Given the description of an element on the screen output the (x, y) to click on. 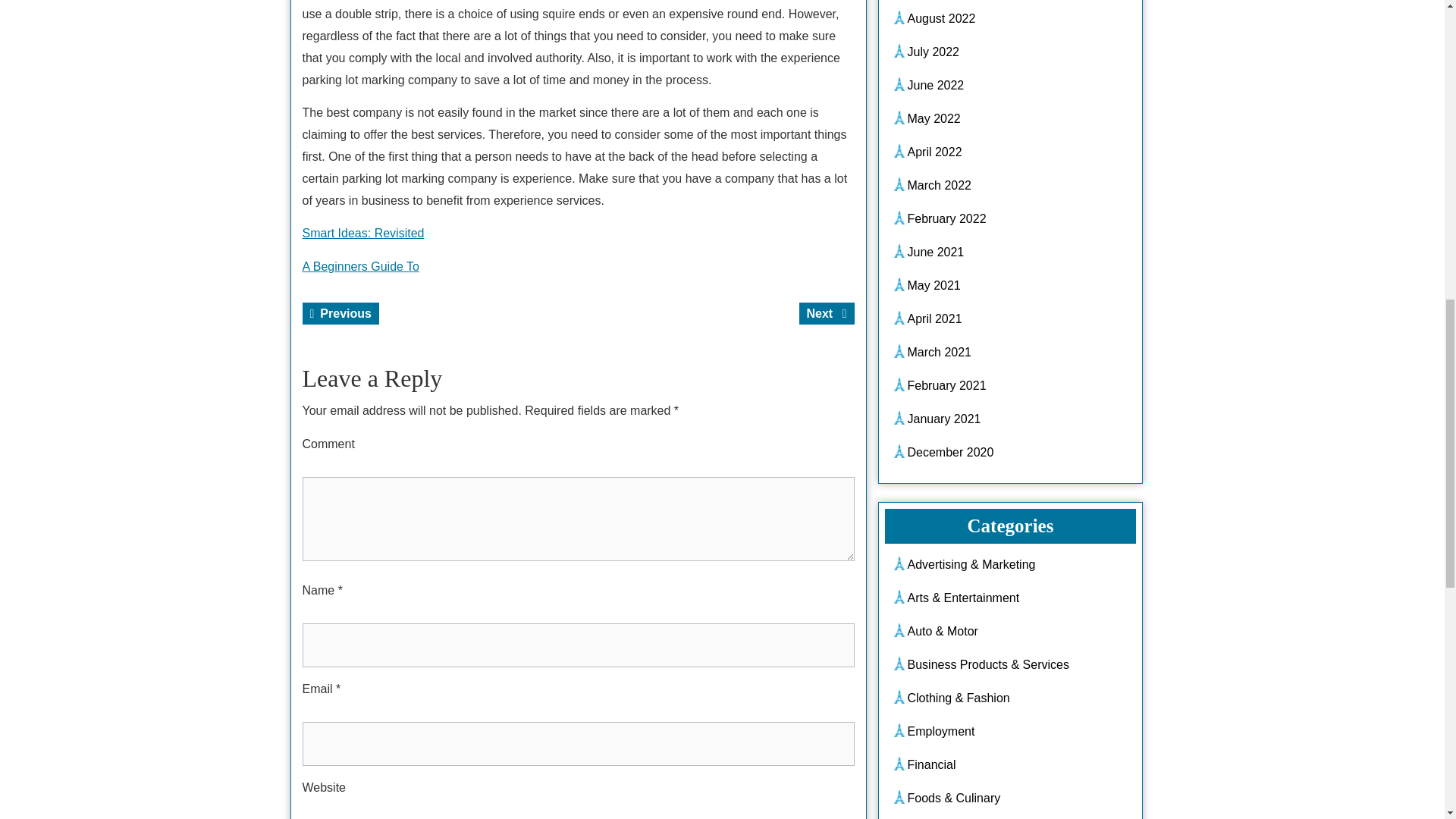
June 2022 (935, 84)
July 2022 (933, 51)
August 2022 (826, 313)
A Beginners Guide To (941, 18)
May 2022 (360, 266)
Smart Ideas: Revisited (339, 313)
